Given the description of an element on the screen output the (x, y) to click on. 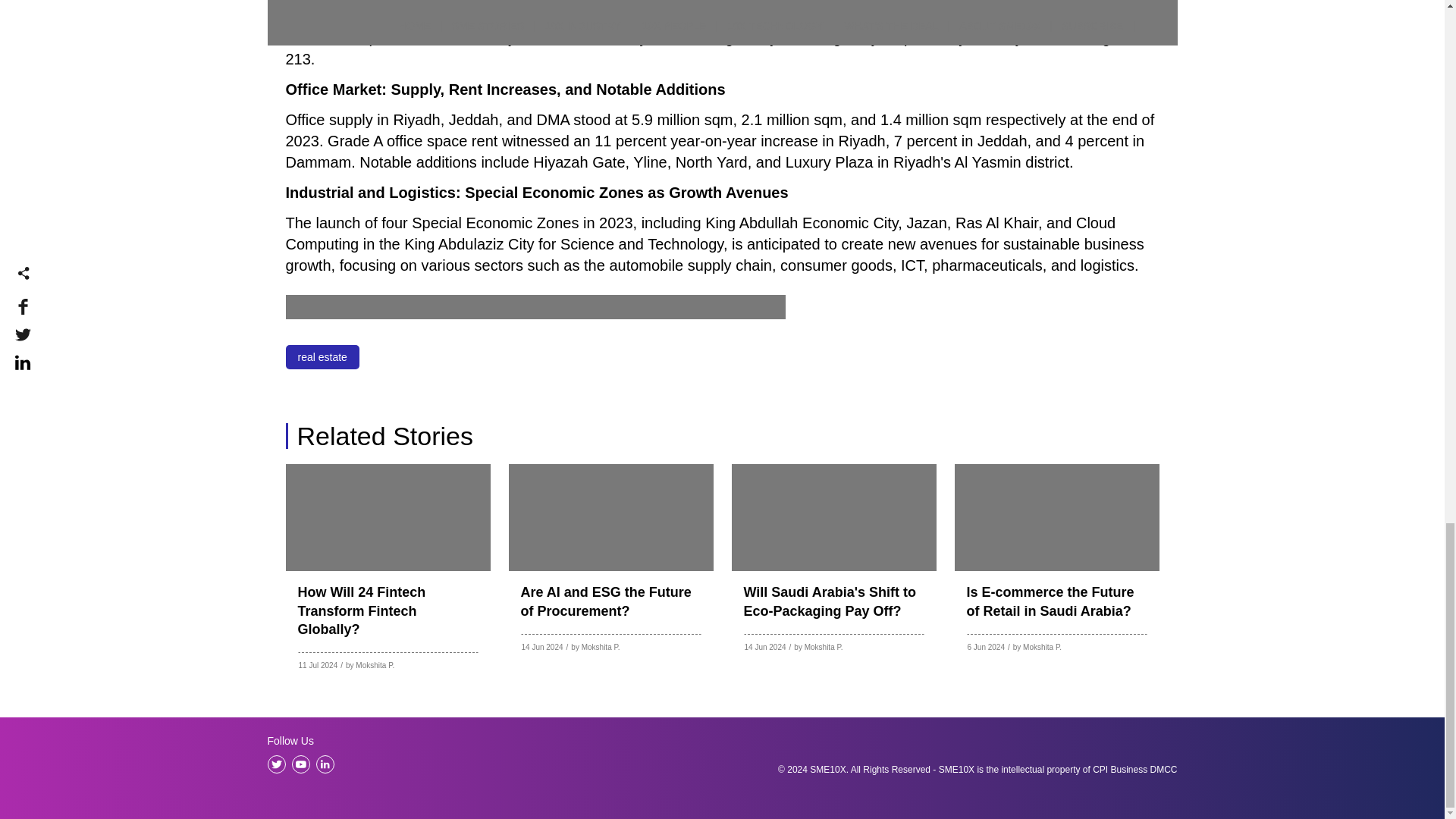
real estate (321, 356)
